Given the description of an element on the screen output the (x, y) to click on. 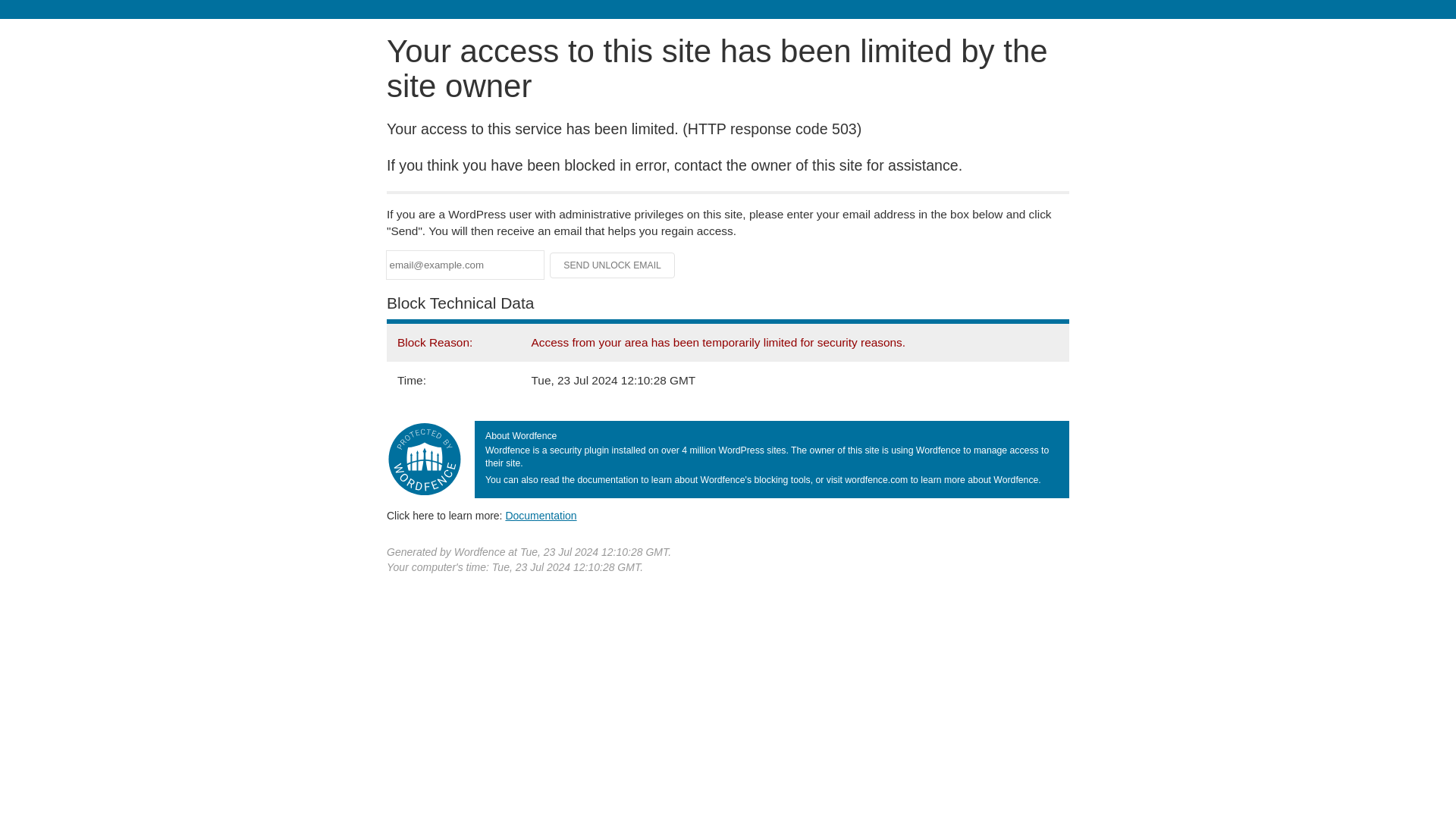
Send Unlock Email (612, 265)
Send Unlock Email (612, 265)
Documentation (540, 515)
